Given the description of an element on the screen output the (x, y) to click on. 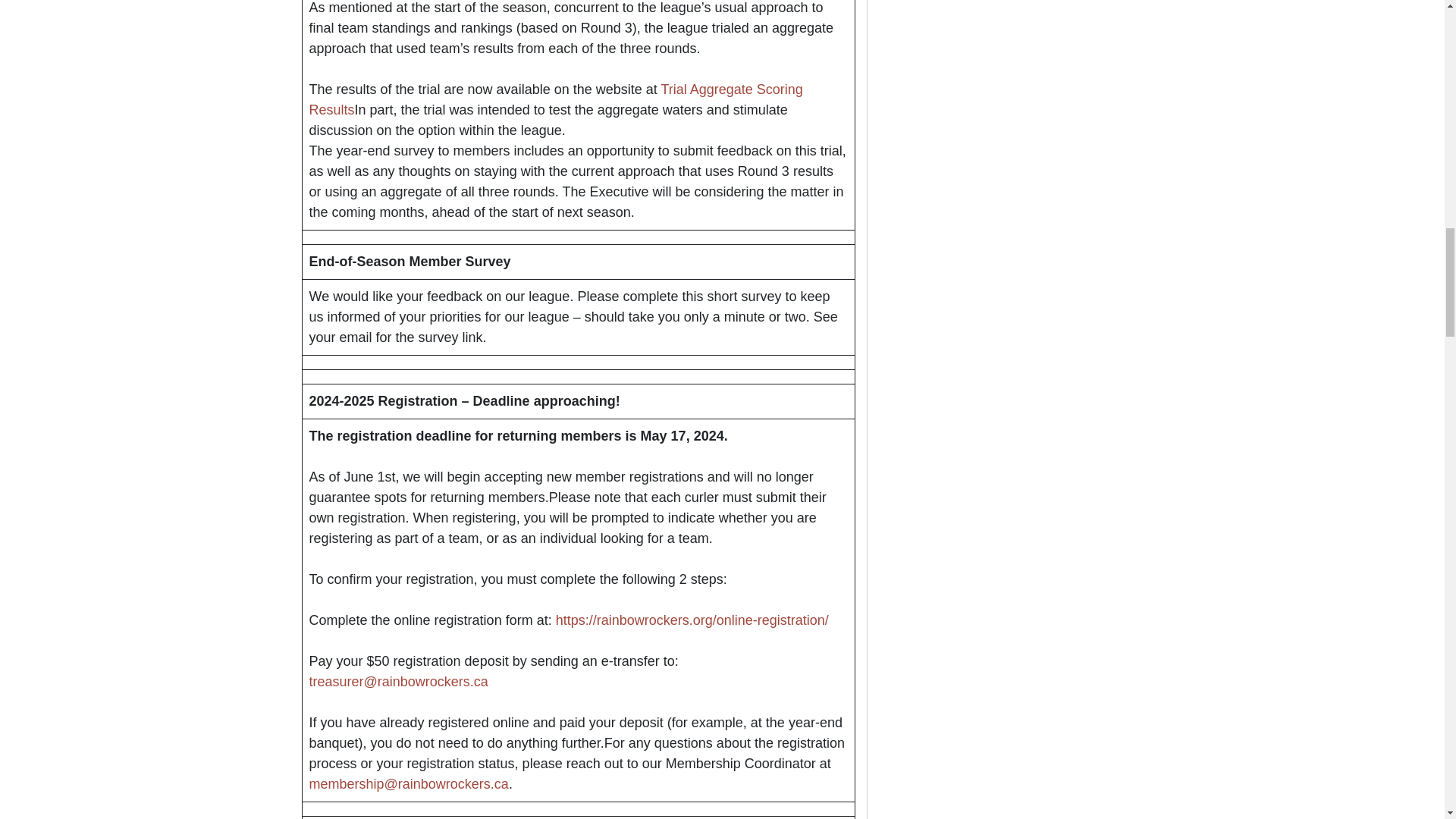
Trial Aggregate Scoring Results (555, 99)
